Given the description of an element on the screen output the (x, y) to click on. 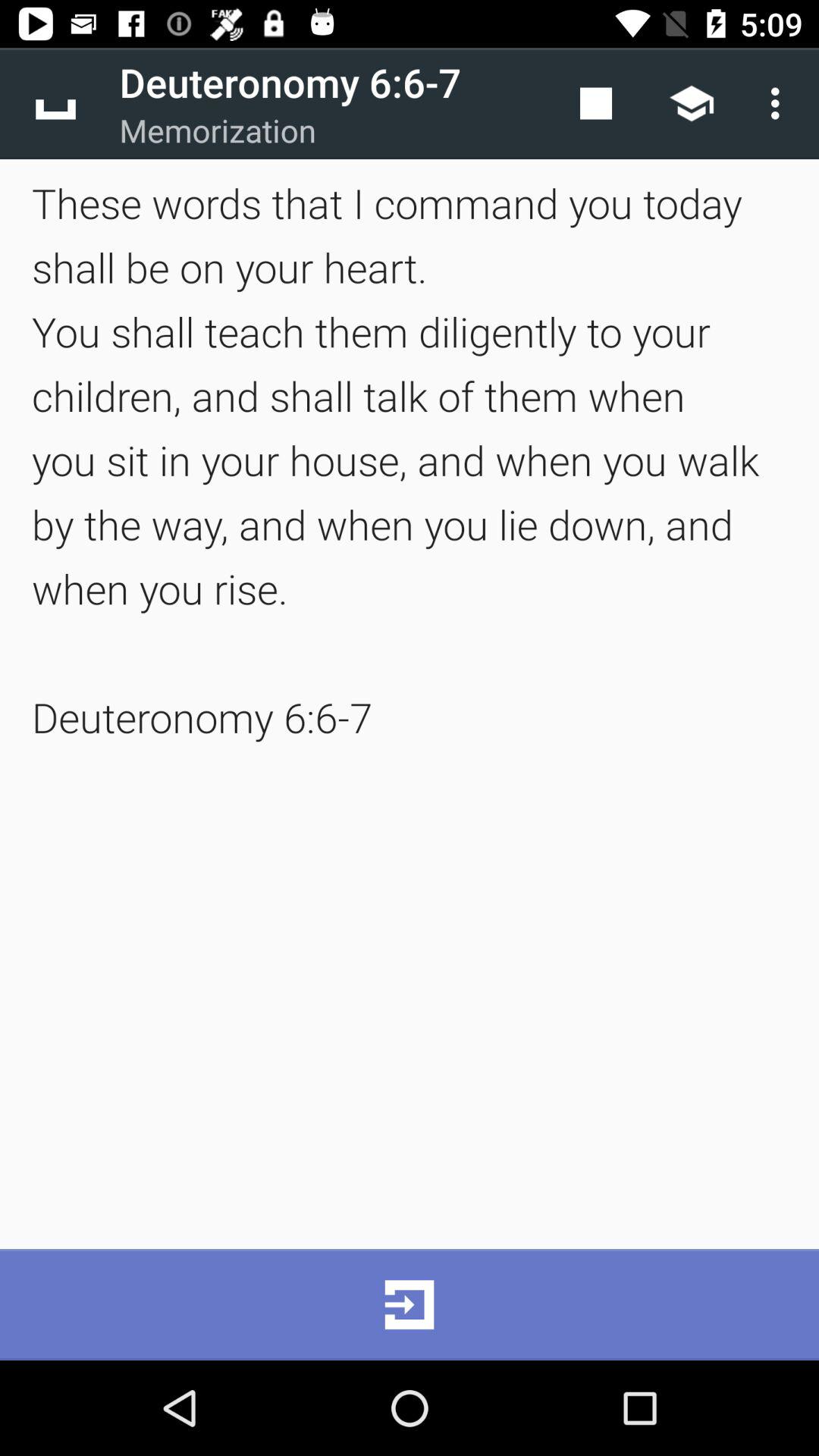
turn on item next to deuteronomy 6 6 app (595, 103)
